Given the description of an element on the screen output the (x, y) to click on. 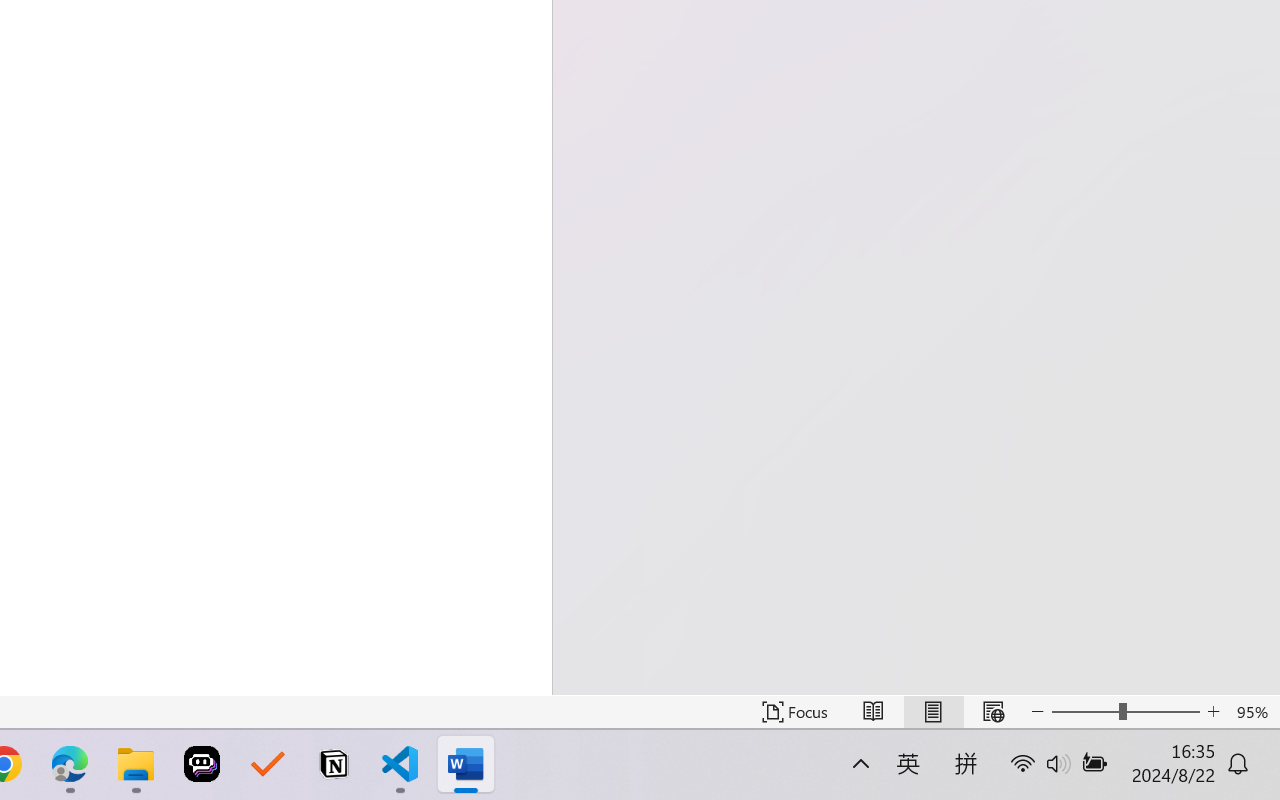
Poe (201, 764)
Zoom 95% (1253, 712)
Notion (333, 764)
